Given the description of an element on the screen output the (x, y) to click on. 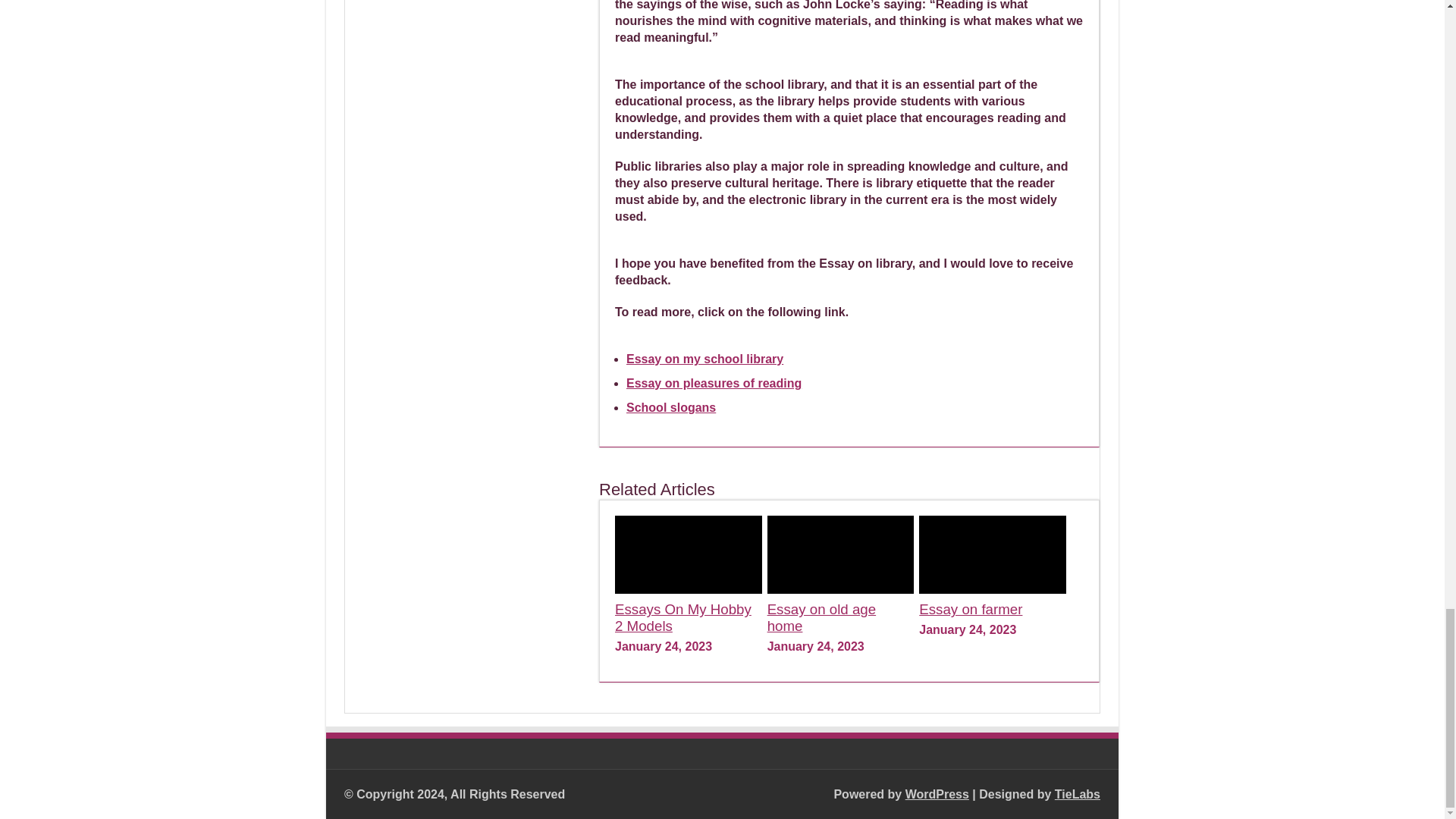
Essay on my school library (704, 358)
School slogans (671, 407)
Essay on pleasures of reading (714, 382)
